Given the description of an element on the screen output the (x, y) to click on. 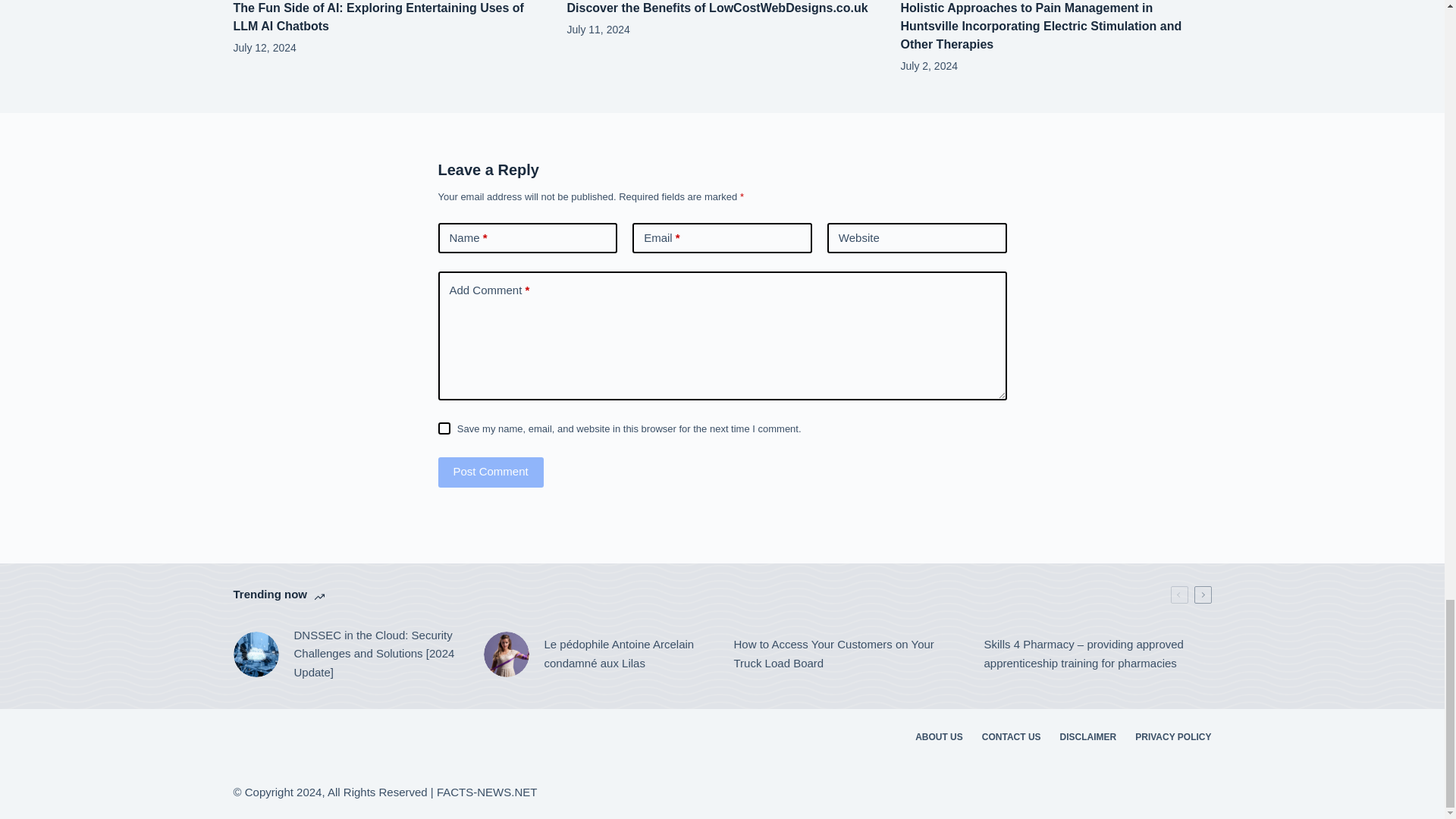
yes (443, 428)
